Given the description of an element on the screen output the (x, y) to click on. 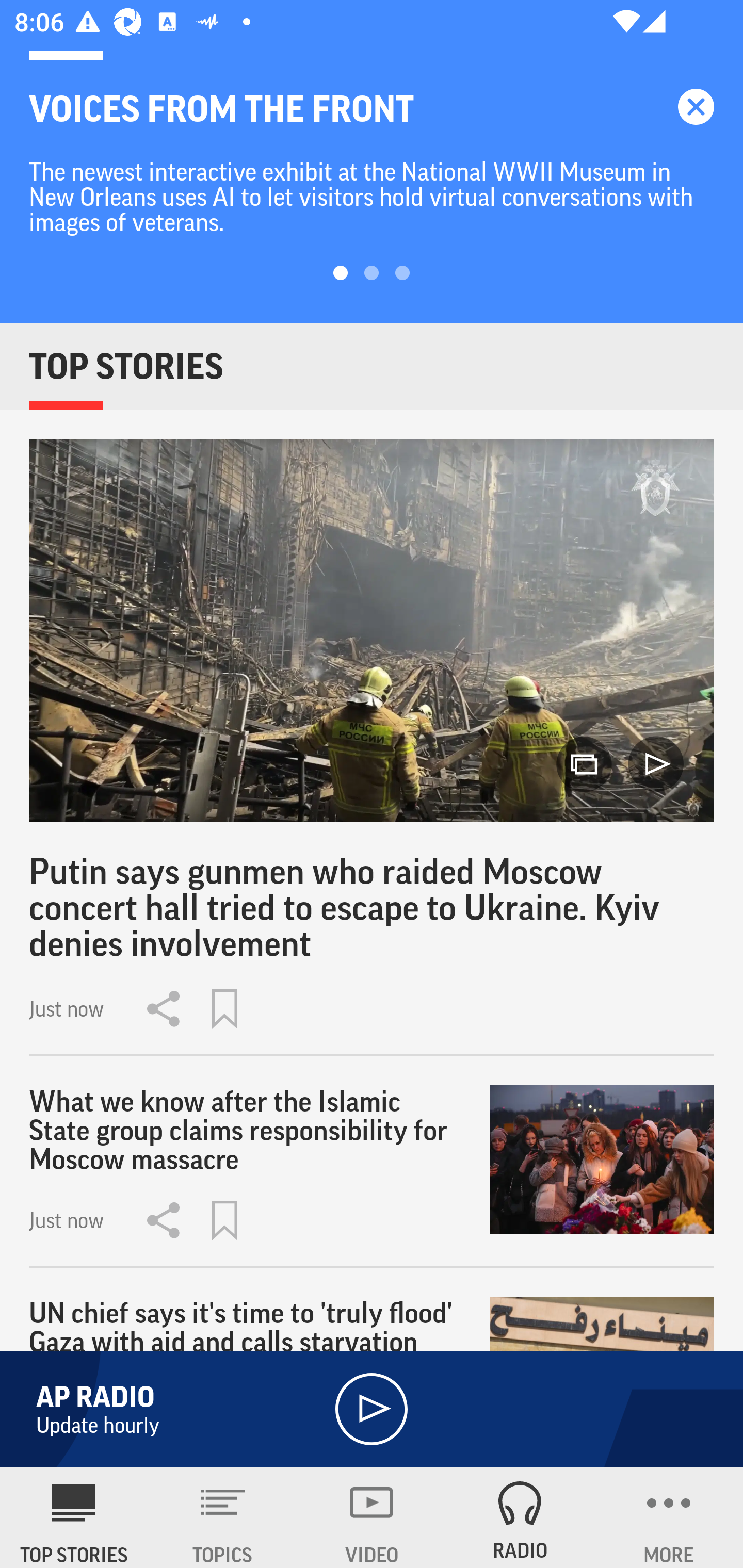
AP RADIO Update hourly (371, 1409)
AP News TOP STORIES (74, 1517)
TOPICS (222, 1517)
VIDEO (371, 1517)
RADIO (519, 1517)
MORE (668, 1517)
